Given the description of an element on the screen output the (x, y) to click on. 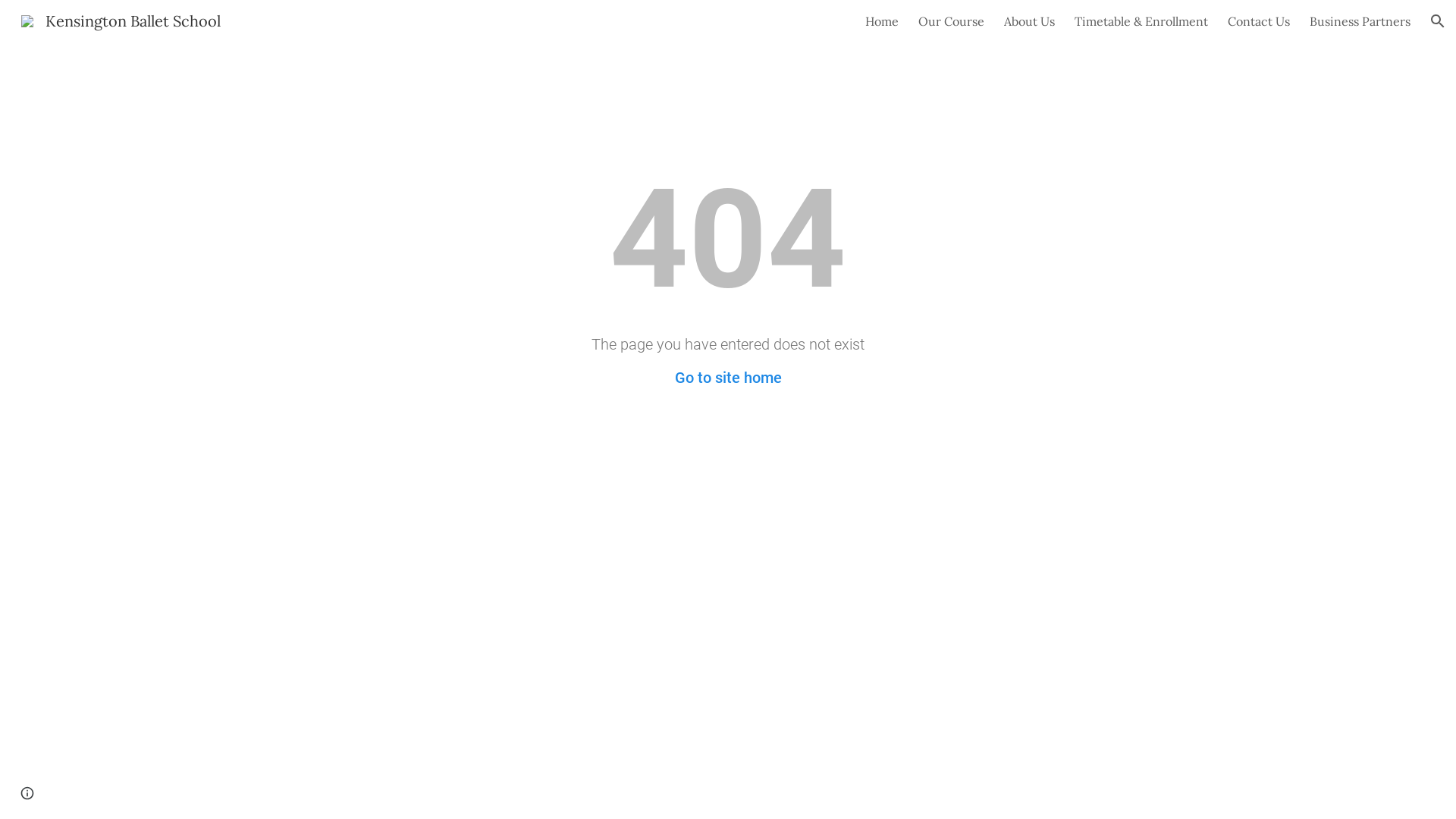
Home Element type: text (881, 20)
Go to site home Element type: text (727, 377)
Our Course Element type: text (951, 20)
About Us Element type: text (1029, 20)
Kensington Ballet School Element type: text (120, 18)
Business Partners Element type: text (1359, 20)
Contact Us Element type: text (1258, 20)
Timetable & Enrollment Element type: text (1141, 20)
